Given the description of an element on the screen output the (x, y) to click on. 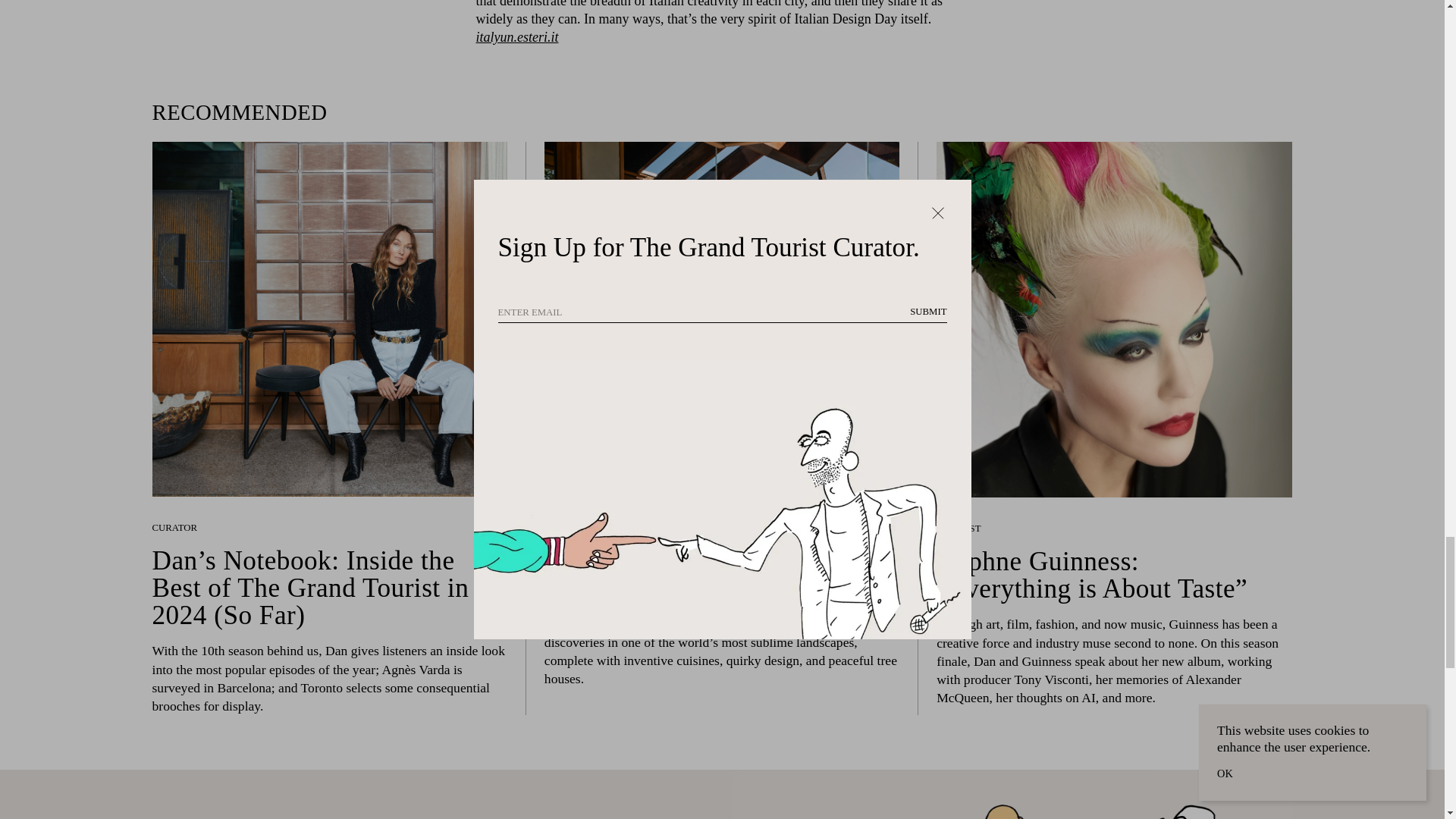
italyun.esteri.it (517, 37)
